Given the description of an element on the screen output the (x, y) to click on. 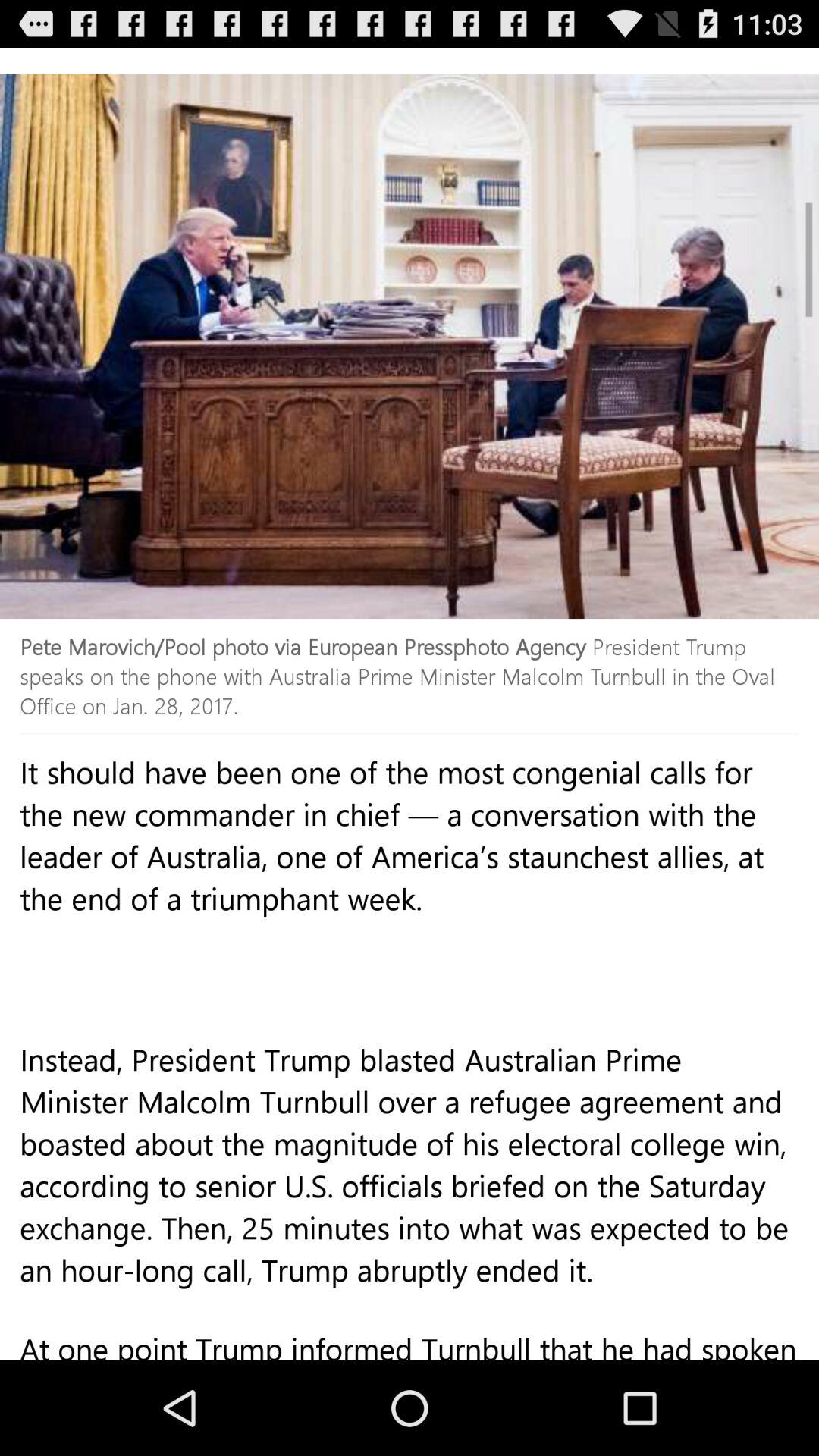
swipe until the instead president trump (409, 1197)
